Given the description of an element on the screen output the (x, y) to click on. 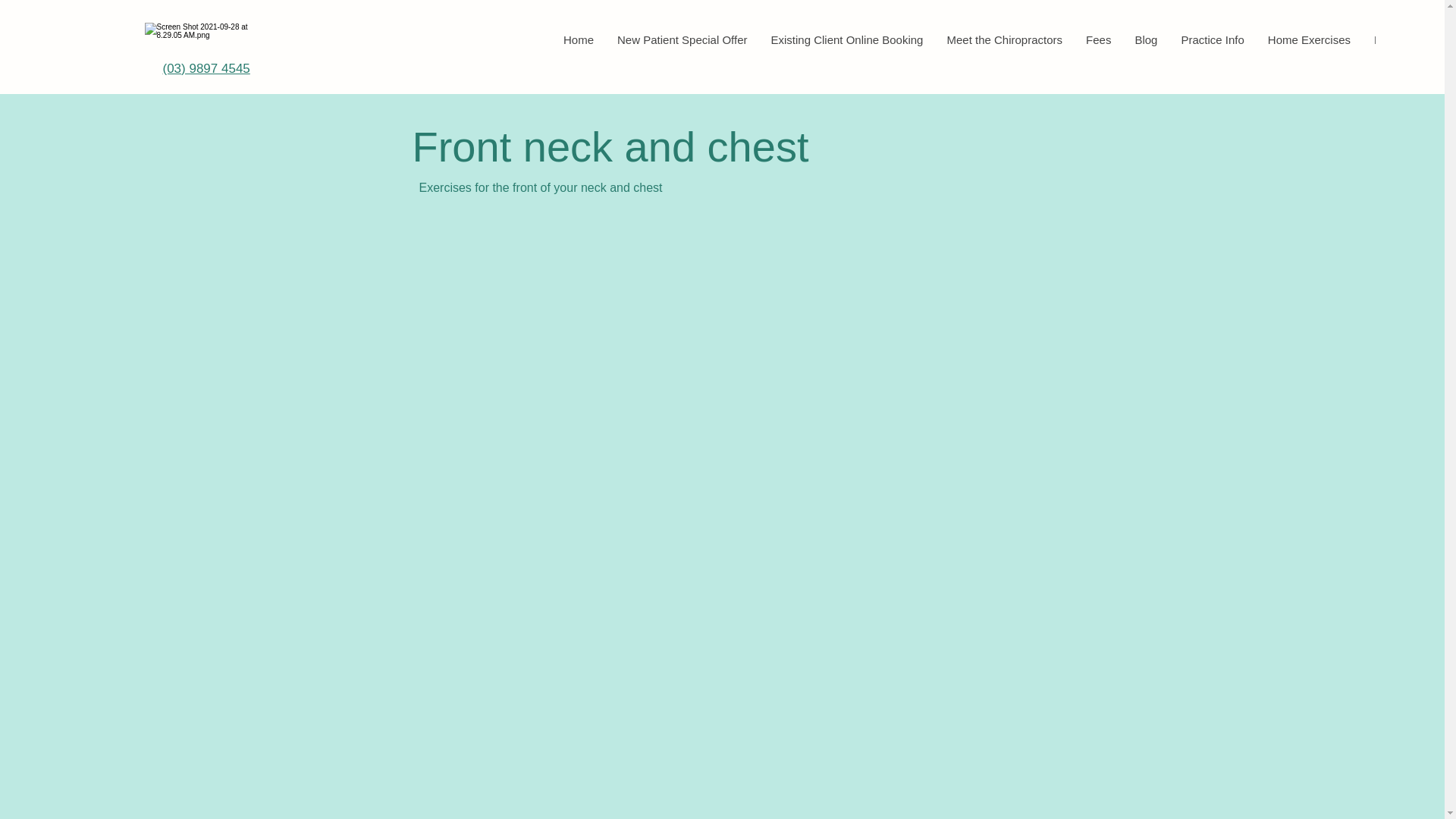
New Patient Special Offer Element type: text (681, 43)
Meet the Chiropractors Element type: text (1003, 43)
(03) 9897 4545 Element type: text (205, 68)
Home Element type: text (578, 43)
Blog Element type: text (1145, 43)
Existing Client Online Booking Element type: text (846, 43)
Fees Element type: text (1097, 43)
